Given the description of an element on the screen output the (x, y) to click on. 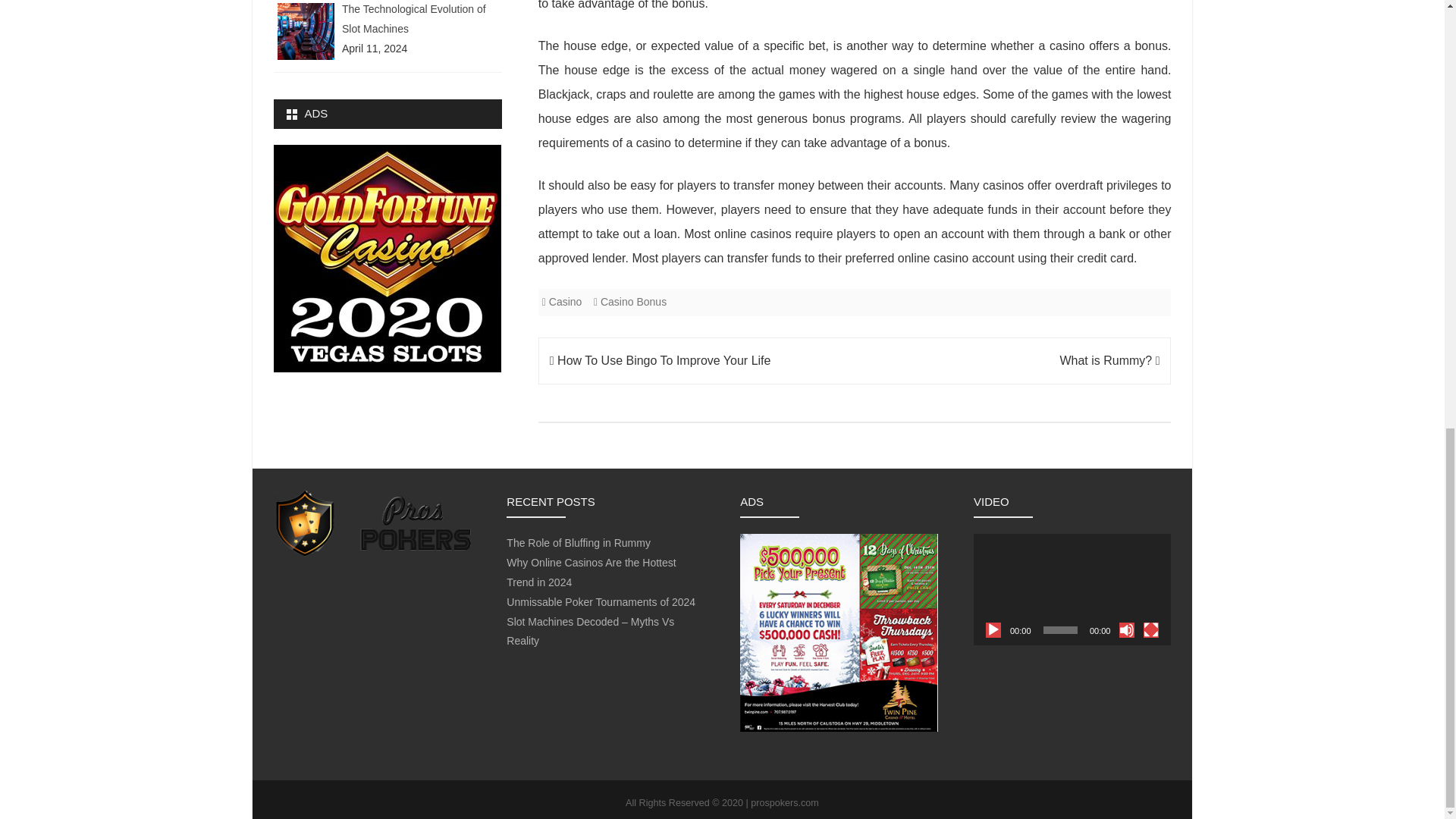
Mute (1126, 630)
Casino (565, 301)
Unmissable Poker Tournaments of 2024 (600, 602)
Play (993, 630)
Fullscreen (1150, 630)
The Technological Evolution of Slot Machines (414, 19)
What is Rummy? (1108, 359)
Casino Bonus (632, 301)
The Role of Bluffing in Rummy (578, 542)
How To Use Bingo To Improve Your Life (660, 359)
